Given the description of an element on the screen output the (x, y) to click on. 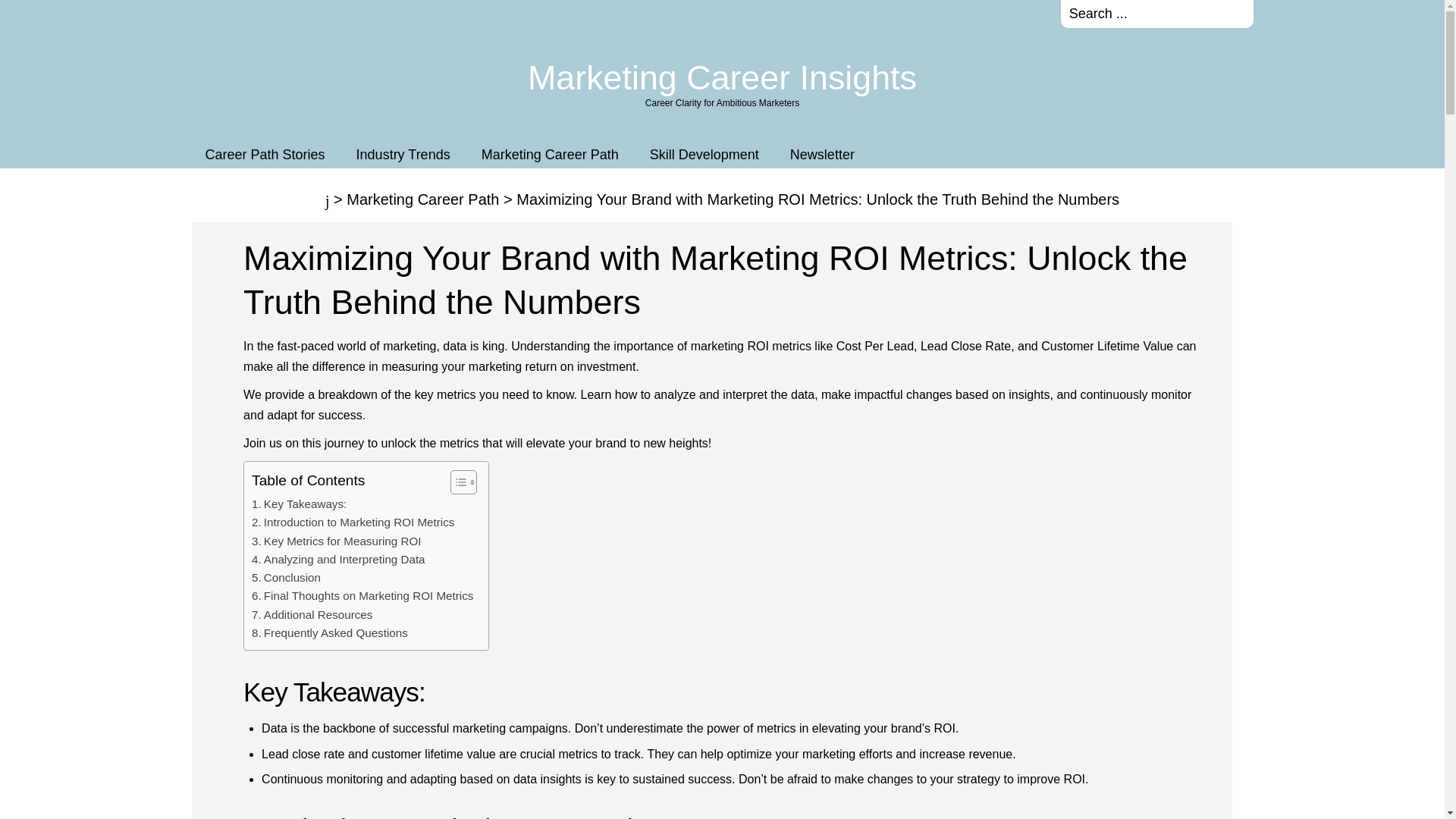
Key Takeaways: (298, 504)
Newsletter (822, 154)
Conclusion (285, 577)
Additional Resources (311, 615)
Conclusion (285, 577)
Key Metrics for Measuring ROI (335, 541)
Industry Trends (402, 154)
Introduction to Marketing ROI Metrics (352, 522)
Marketing Career Insights (722, 77)
Key Metrics for Measuring ROI (335, 541)
